Given the description of an element on the screen output the (x, y) to click on. 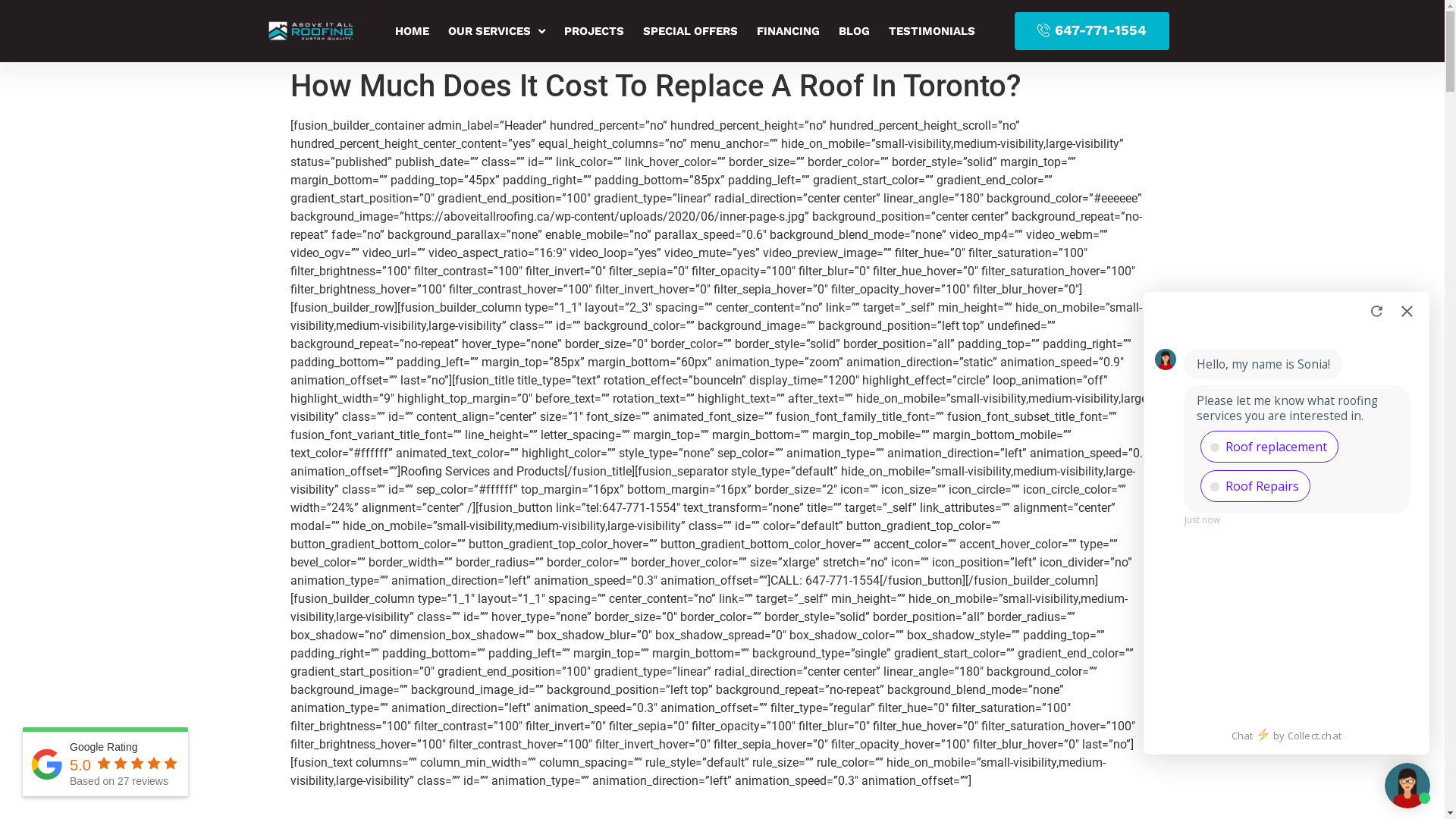
FINANCING Element type: text (787, 30)
OUR SERVICES Element type: text (496, 30)
SPECIAL OFFERS Element type: text (690, 30)
PROJECTS Element type: text (594, 30)
Google Rating
5.0
Based on 27 reviews Element type: text (105, 763)
647-771-1554 Element type: text (1091, 31)
TESTIMONIALS Element type: text (931, 30)
HOME Element type: text (412, 30)
BLOG Element type: text (853, 30)
